Given the description of an element on the screen output the (x, y) to click on. 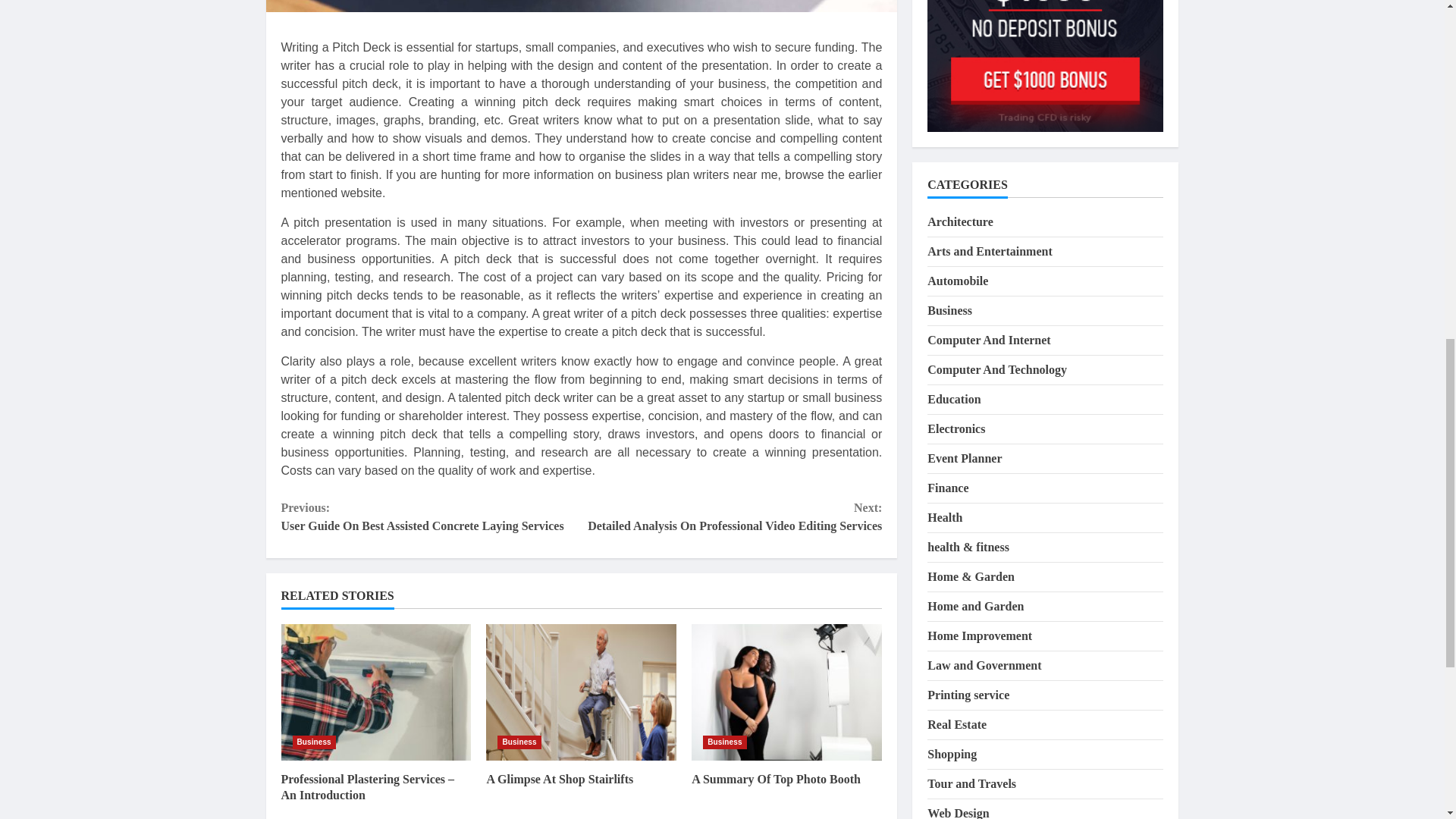
Computer And Technology (997, 241)
Business (518, 742)
Automobile (957, 153)
A Summary Of Top Photo Booth (775, 779)
Business (724, 742)
A Glimpse At Shop Stairlifts (559, 779)
Business (949, 182)
Computer And Internet (988, 212)
Business (314, 742)
Architecture (959, 93)
business plan writers near me (695, 174)
Arts and Entertainment (989, 123)
A Summary Of Top Photo Booth (786, 692)
